Given the description of an element on the screen output the (x, y) to click on. 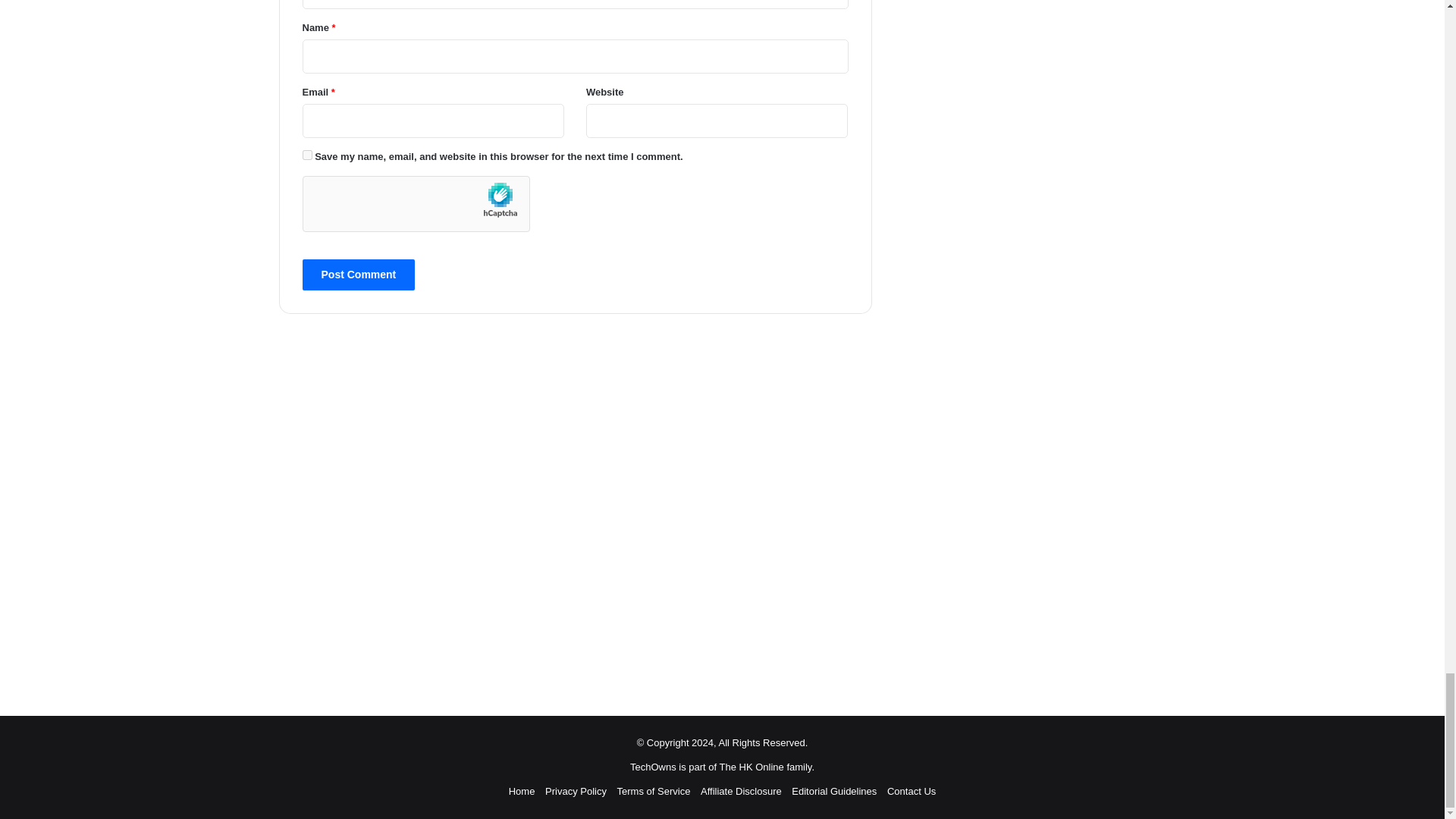
Post Comment (357, 274)
yes (306, 154)
